Given the description of an element on the screen output the (x, y) to click on. 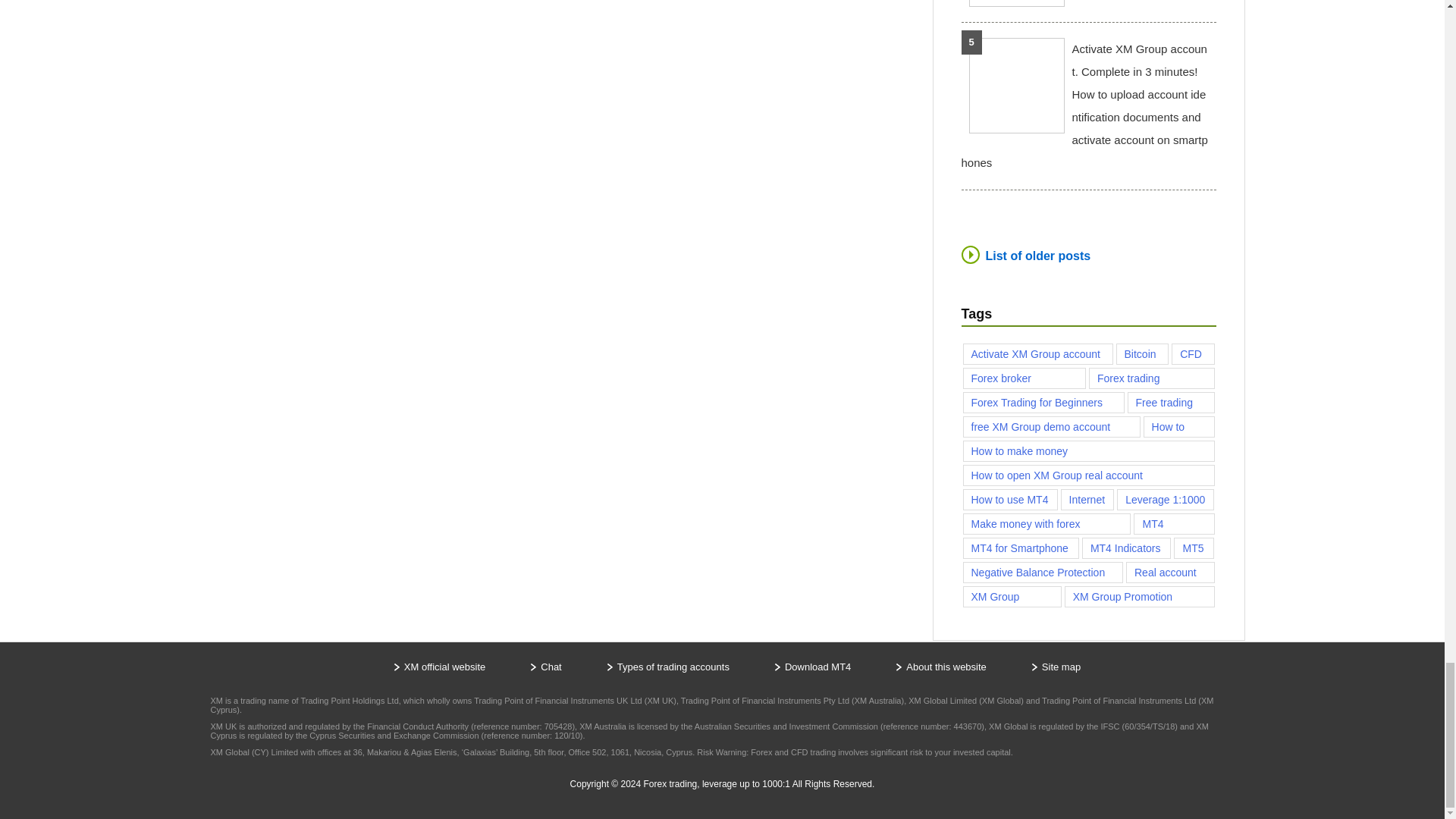
List of older posts (1025, 254)
